Given the description of an element on the screen output the (x, y) to click on. 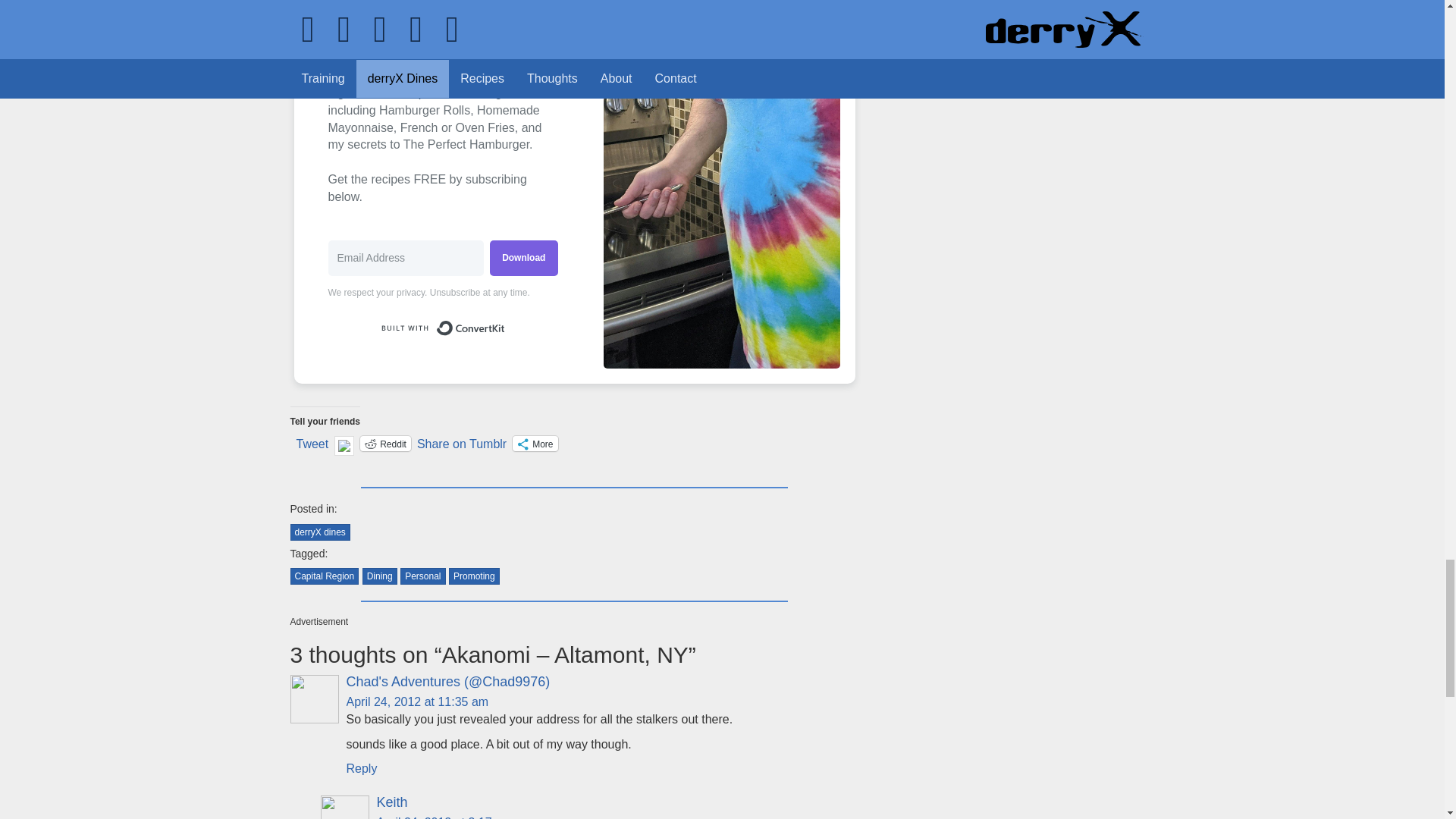
More (534, 443)
Personal (422, 576)
Share on Tumblr (461, 442)
Download (523, 258)
Click to share on Reddit (384, 443)
Dining (379, 576)
Built with ConvertKit (442, 328)
Tweet (312, 442)
derryX dines (319, 532)
Reddit (384, 443)
Capital Region (323, 576)
Promoting (473, 576)
